Given the description of an element on the screen output the (x, y) to click on. 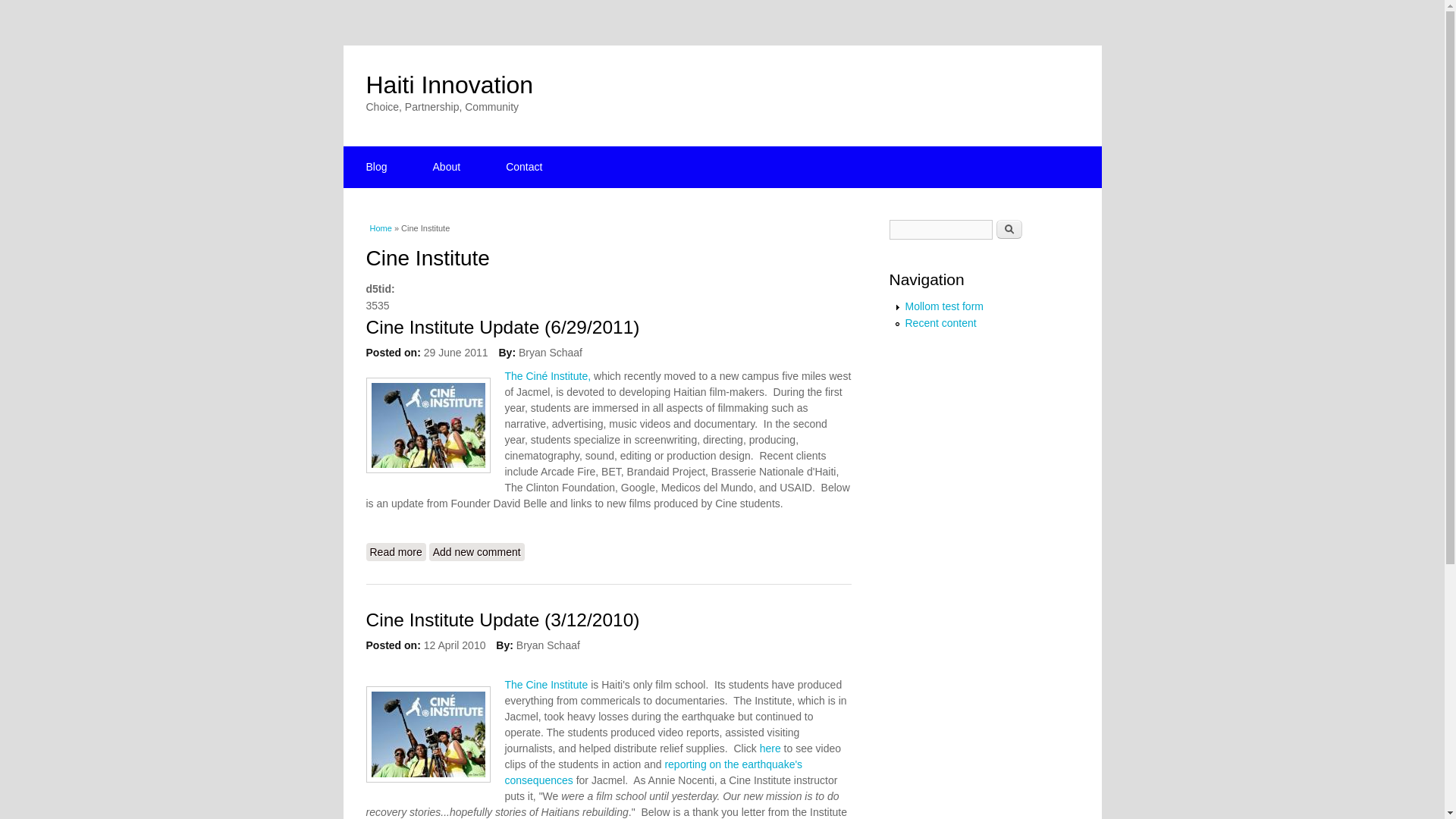
reporting on the earthquake's consequences (654, 772)
Add new comment (476, 551)
Mollom test form (944, 306)
Search (1008, 229)
Home (380, 227)
Enter the terms you wish to search for. (939, 229)
About (446, 167)
Home (448, 84)
Blog (375, 167)
About Haiti Innovation (446, 167)
Haiti Innovation (448, 84)
Search (1008, 229)
Contact (523, 167)
The Cine Institute (548, 684)
Add a new comment to this page. (476, 551)
